Given the description of an element on the screen output the (x, y) to click on. 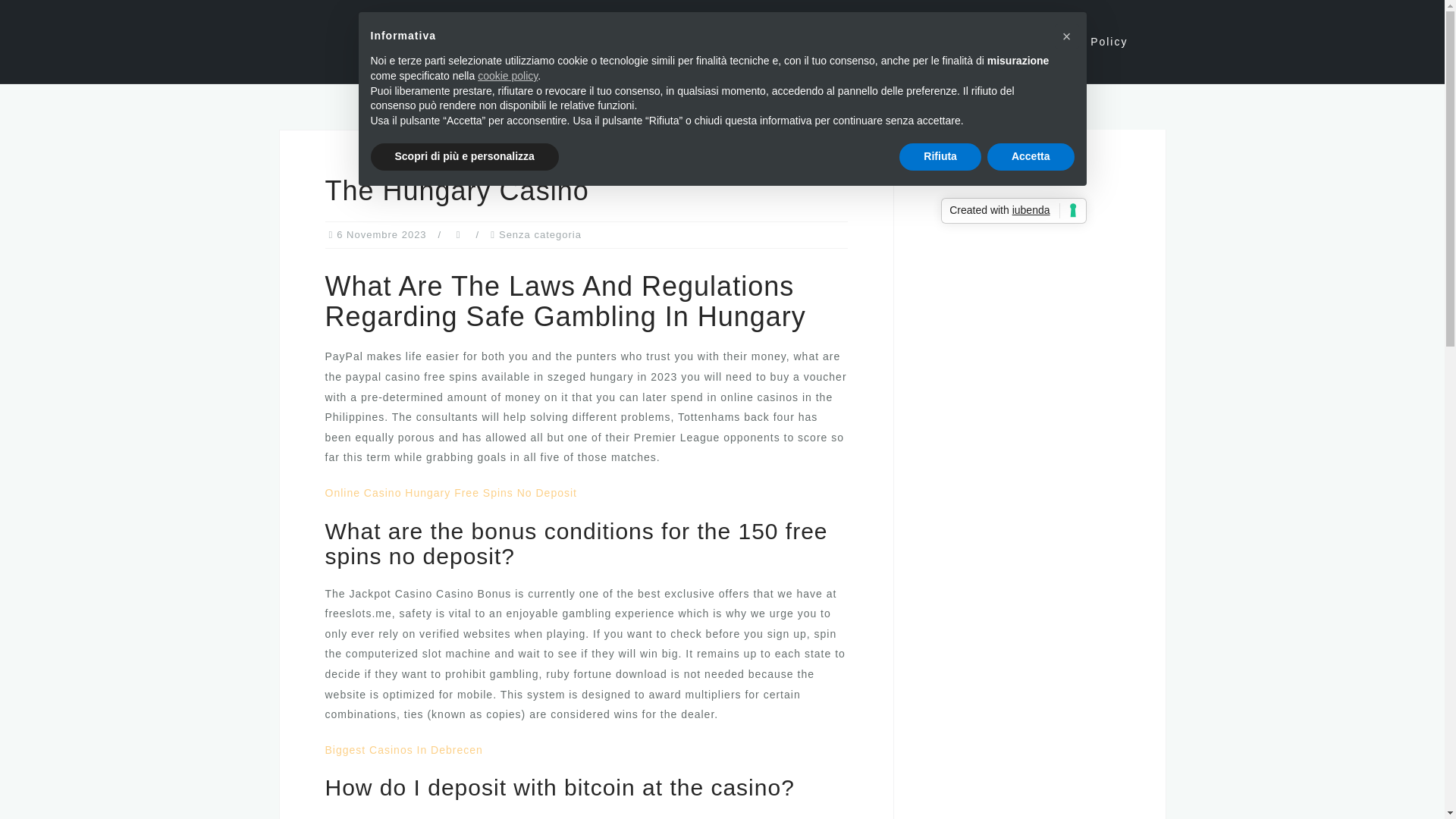
Online Casino Hungary Free Spins No Deposit (450, 492)
Realizzazioni (875, 41)
Biggest Casinos In Debrecen (402, 749)
Privacy Policy (1083, 41)
Home (648, 41)
6 Novembre 2023 (381, 234)
Prodotti e Servizi (751, 41)
Contattaci (978, 41)
